Given the description of an element on the screen output the (x, y) to click on. 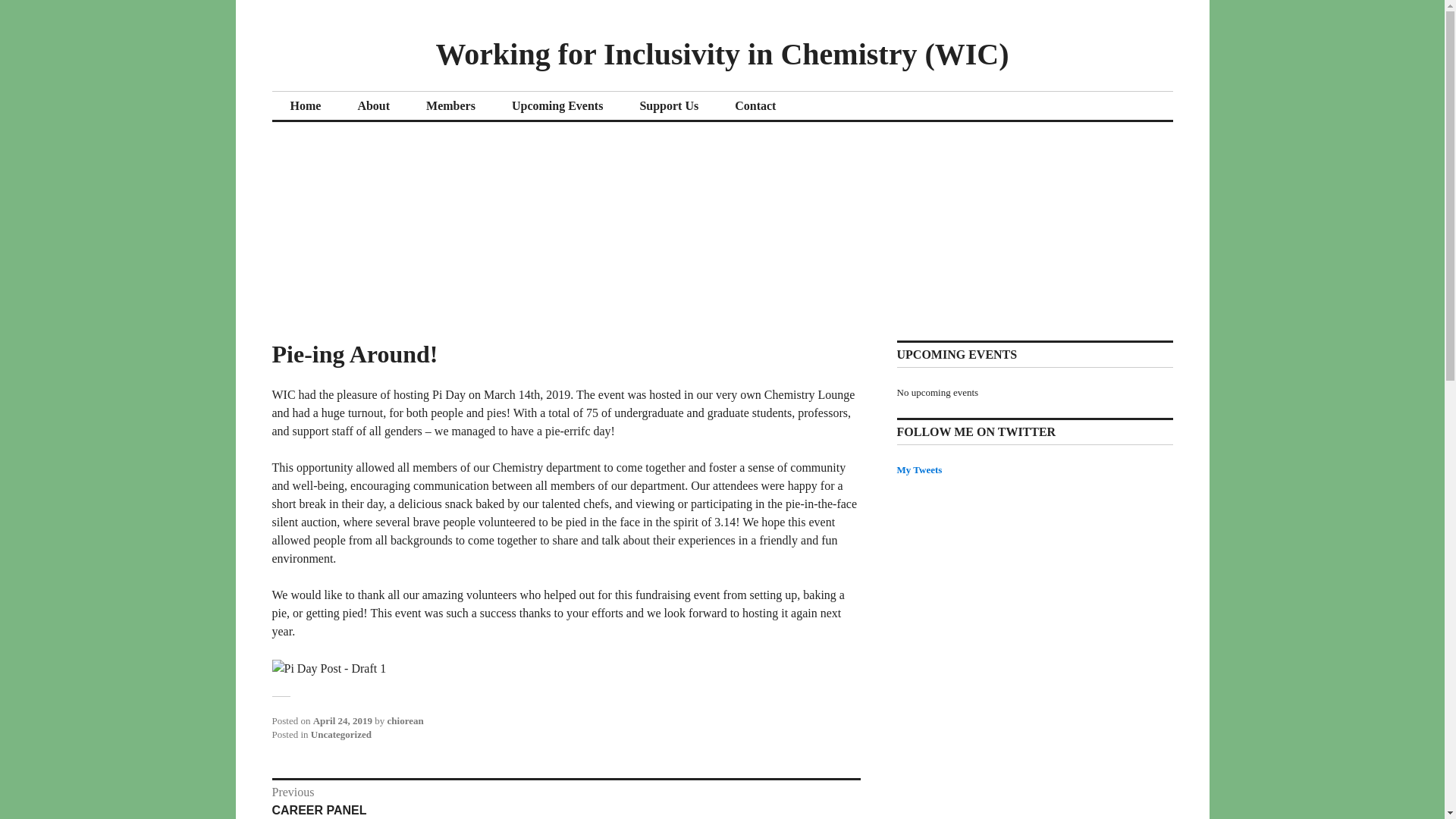
Contact (754, 105)
About (373, 105)
Home (304, 105)
Uncategorized (341, 734)
Upcoming Events (557, 105)
chiorean (405, 720)
Members (450, 105)
My Tweets (919, 469)
Support Us (668, 105)
April 24, 2019 (565, 800)
